Given the description of an element on the screen output the (x, y) to click on. 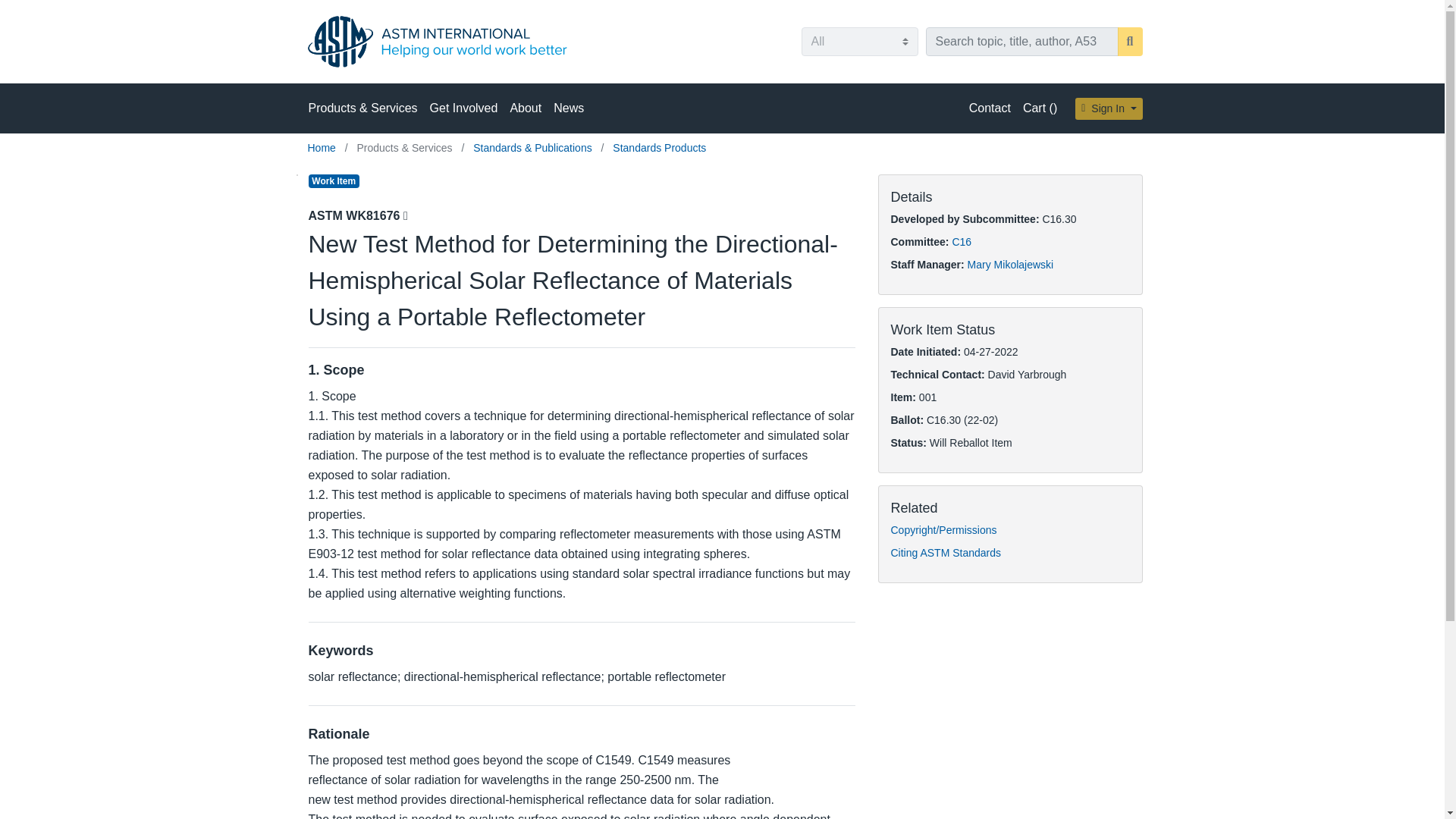
Standards Products (659, 147)
Go to Home Page (323, 147)
All (858, 41)
